Given the description of an element on the screen output the (x, y) to click on. 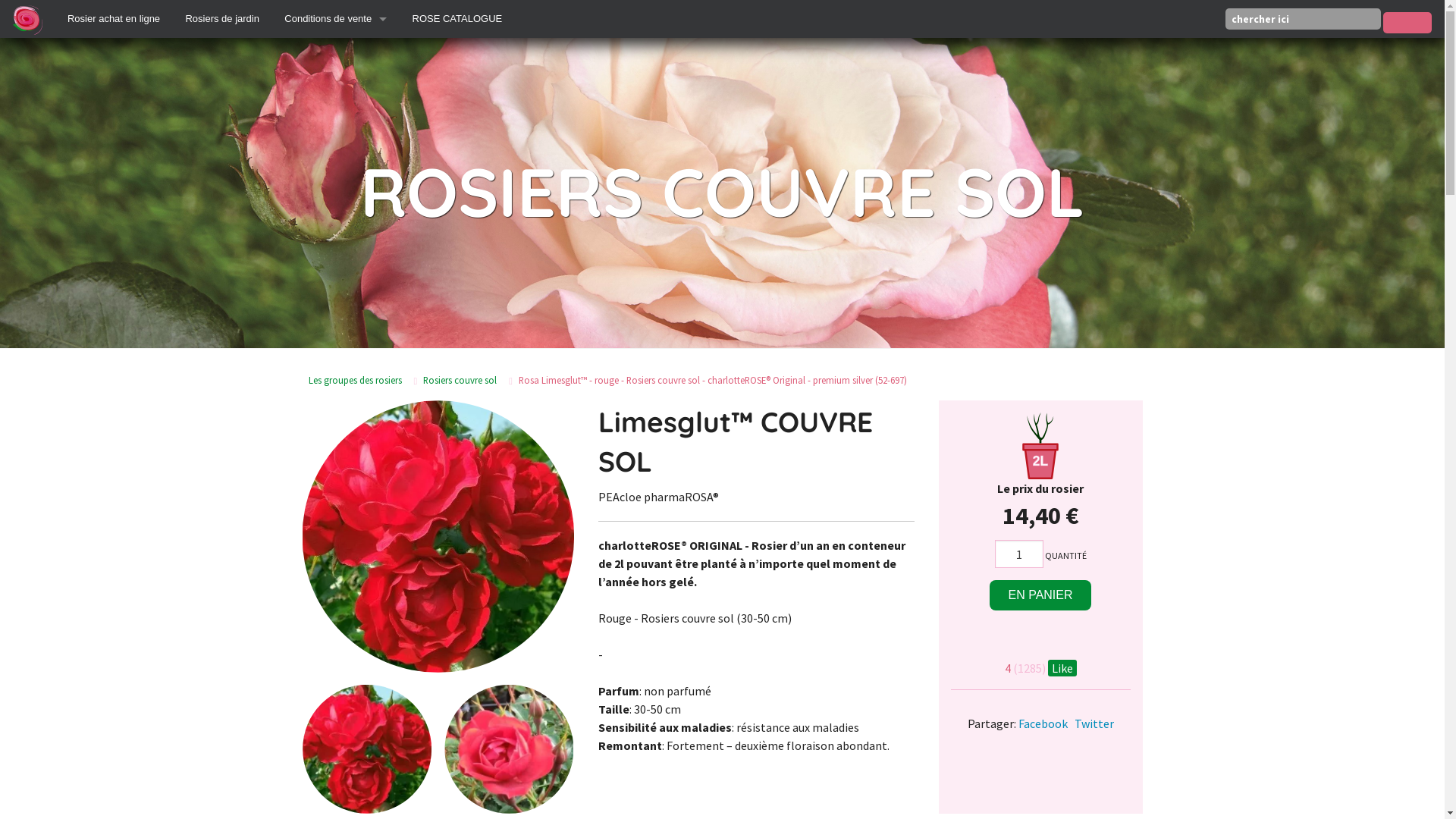
Les groupes des rosiers Element type: text (354, 380)
Twitter Element type: text (1093, 723)
Rosiers couvre sol Element type: text (455, 380)
Les garanties Element type: text (335, 56)
Like Element type: text (1062, 667)
ROSE CATALOGUE Element type: text (456, 18)
EN PANIER Element type: text (1039, 595)
Rosiers de jardin Element type: text (222, 18)
Rosier achat en ligne Element type: text (113, 18)
Conditions de vente Element type: text (335, 18)
Facebook Element type: text (1041, 723)
